Given the description of an element on the screen output the (x, y) to click on. 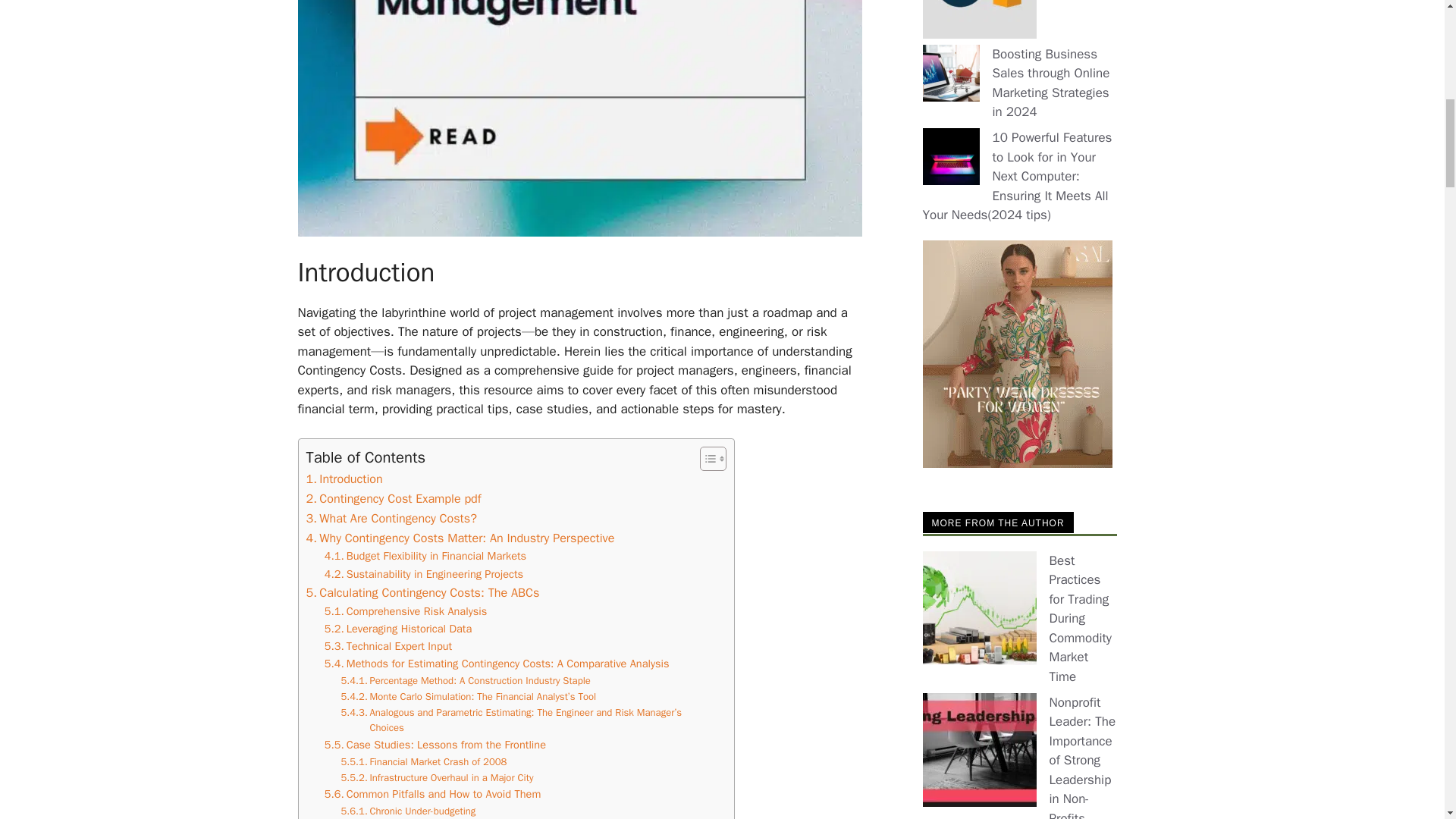
Contingency Cost Example pdf (393, 498)
Introduction (343, 478)
What Are Contingency Costs? (391, 518)
Calculating Contingency Costs: The ABCs (422, 592)
Technical Expert Input (387, 646)
Leveraging Historical Data (397, 628)
Comprehensive Risk Analysis (405, 610)
Why Contingency Costs Matter: An Industry Perspective (459, 537)
Budget Flexibility in Financial Markets (424, 556)
Sustainability in Engineering Projects (423, 574)
